Given the description of an element on the screen output the (x, y) to click on. 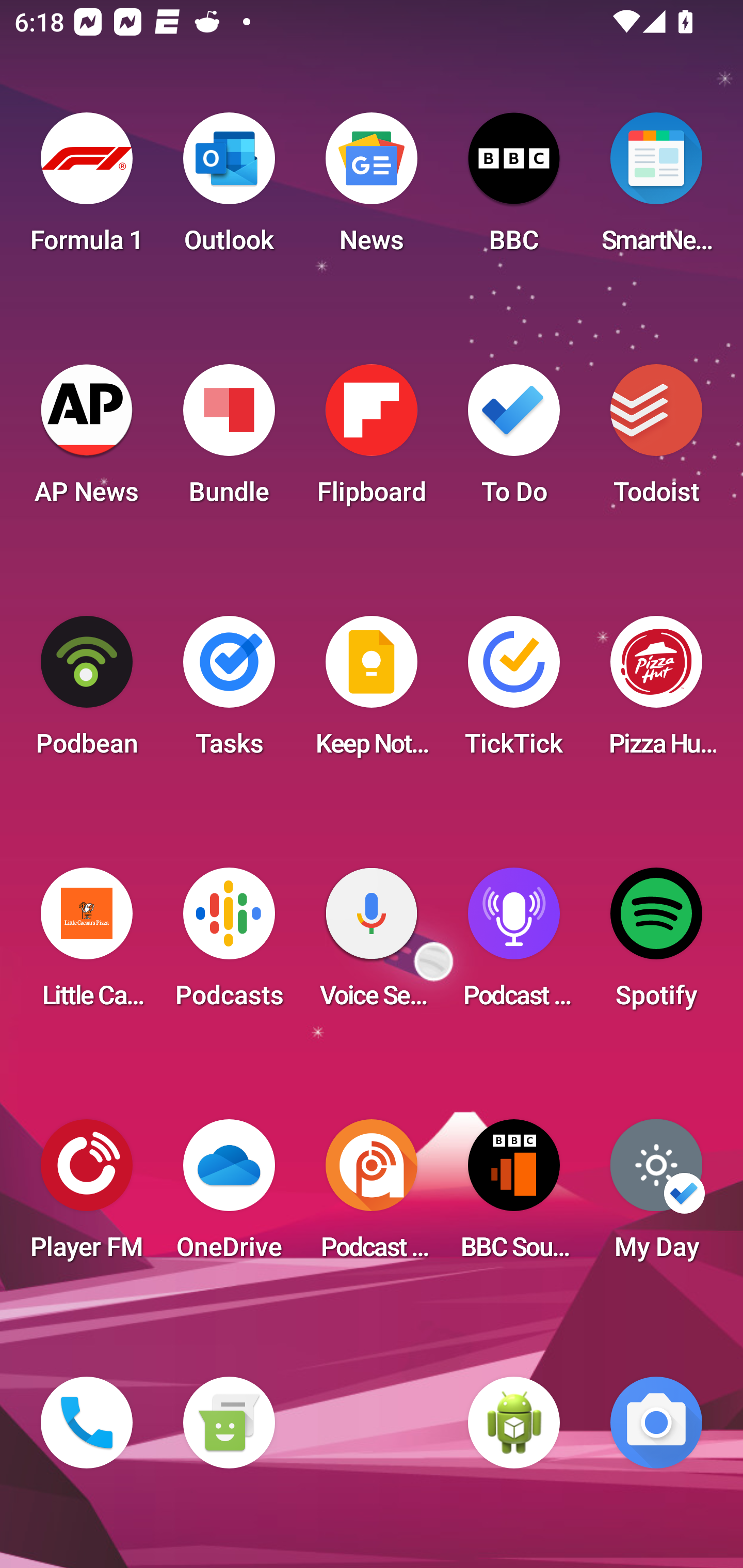
Formula 1 (86, 188)
Outlook (228, 188)
News (371, 188)
BBC (513, 188)
SmartNews (656, 188)
AP News (86, 440)
Bundle (228, 440)
Flipboard (371, 440)
To Do (513, 440)
Todoist (656, 440)
Podbean (86, 692)
Tasks (228, 692)
Keep Notes (371, 692)
TickTick (513, 692)
Pizza Hut HK & Macau (656, 692)
Little Caesars Pizza (86, 943)
Podcasts (228, 943)
Voice Search (371, 943)
Podcast Player (513, 943)
Spotify (656, 943)
Player FM (86, 1195)
OneDrive (228, 1195)
Podcast Addict (371, 1195)
BBC Sounds (513, 1195)
My Day (656, 1195)
Phone (86, 1422)
Messaging (228, 1422)
WebView Browser Tester (513, 1422)
Camera (656, 1422)
